Given the description of an element on the screen output the (x, y) to click on. 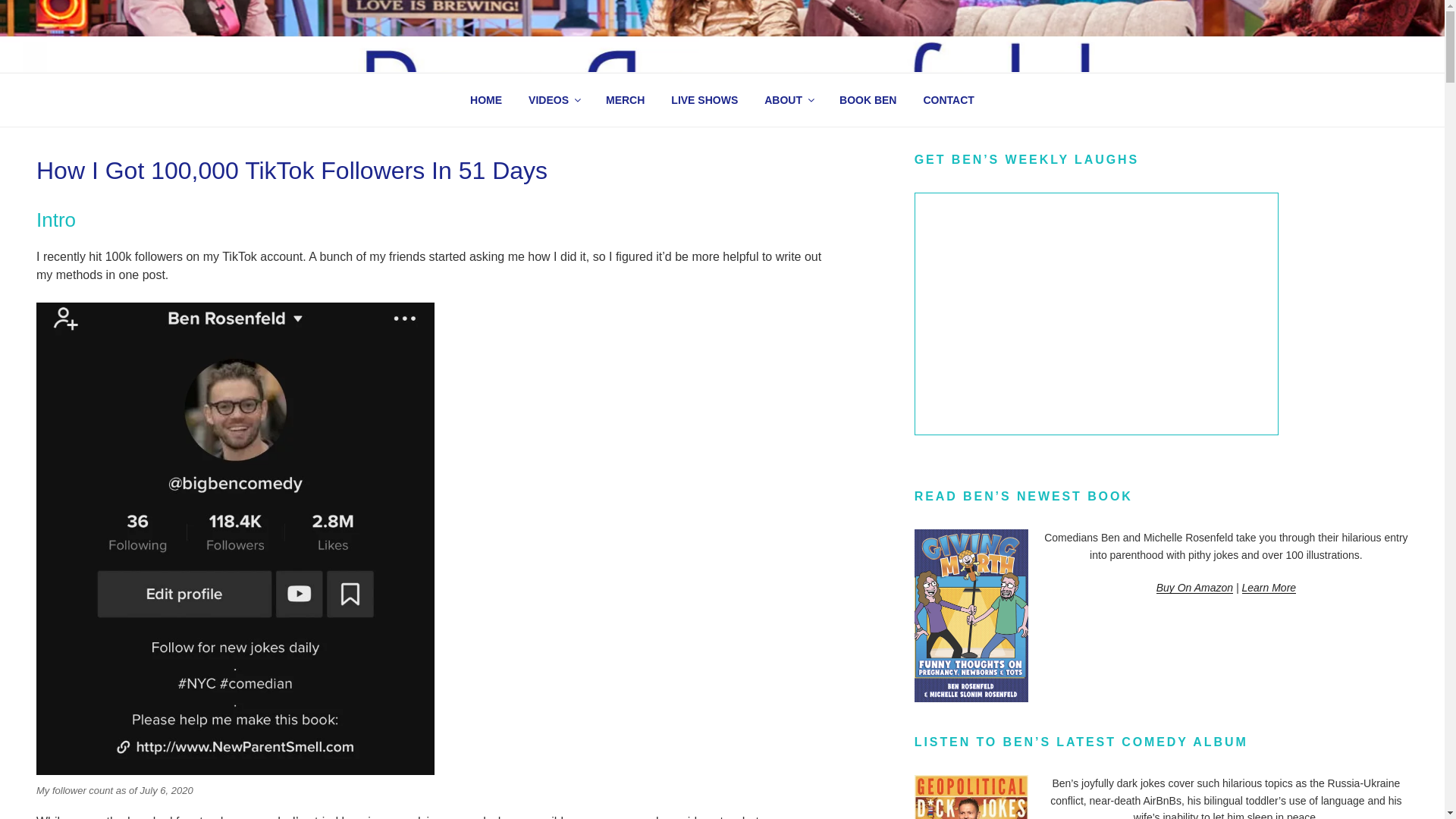
LIVE SHOWS (704, 99)
ABOUT (789, 99)
CONTACT (948, 99)
MERCH (625, 99)
VIDEOS (553, 99)
HOME (486, 99)
BOOK BEN (868, 99)
